Given the description of an element on the screen output the (x, y) to click on. 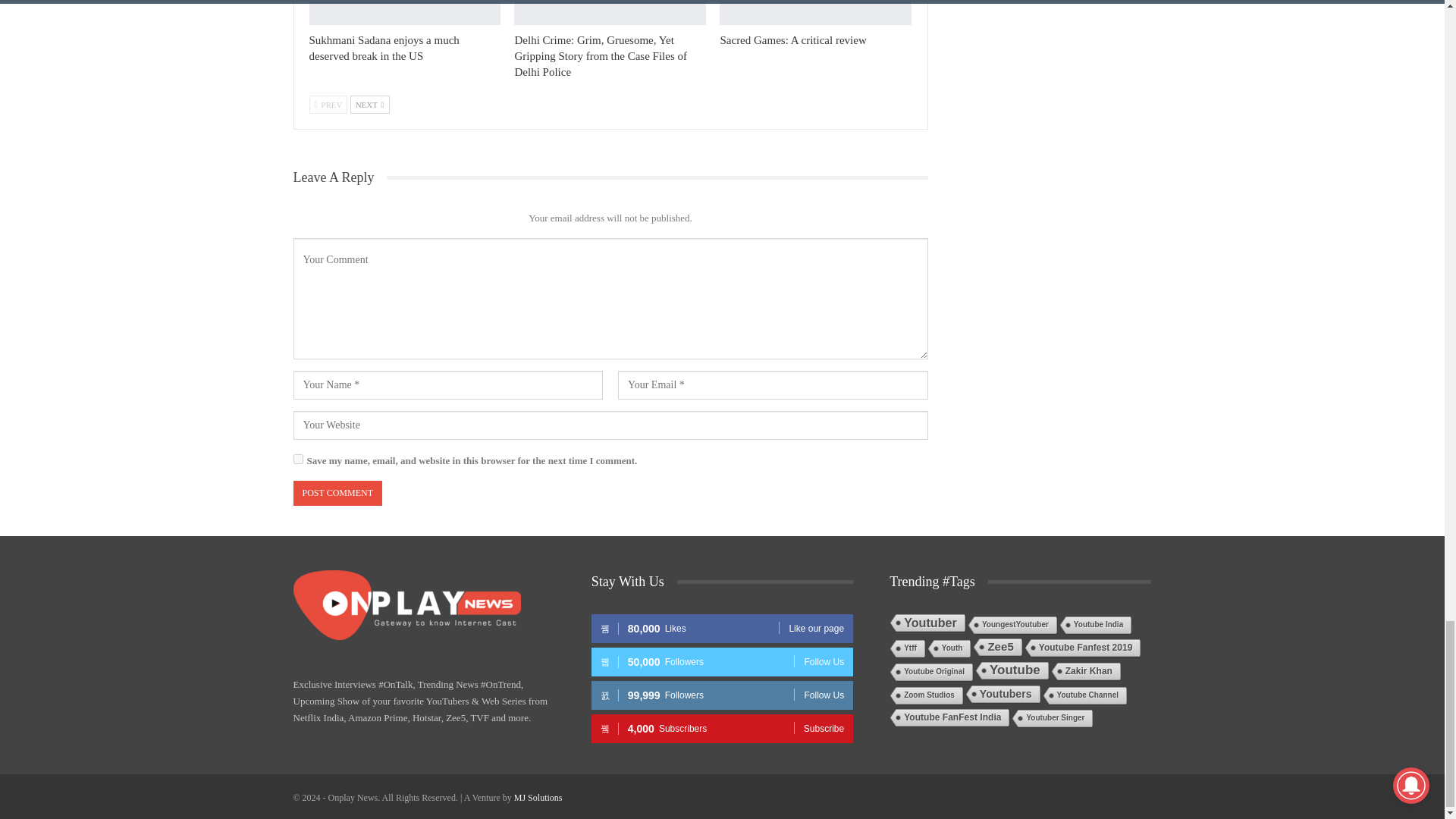
yes (297, 459)
Post Comment (336, 493)
